Given the description of an element on the screen output the (x, y) to click on. 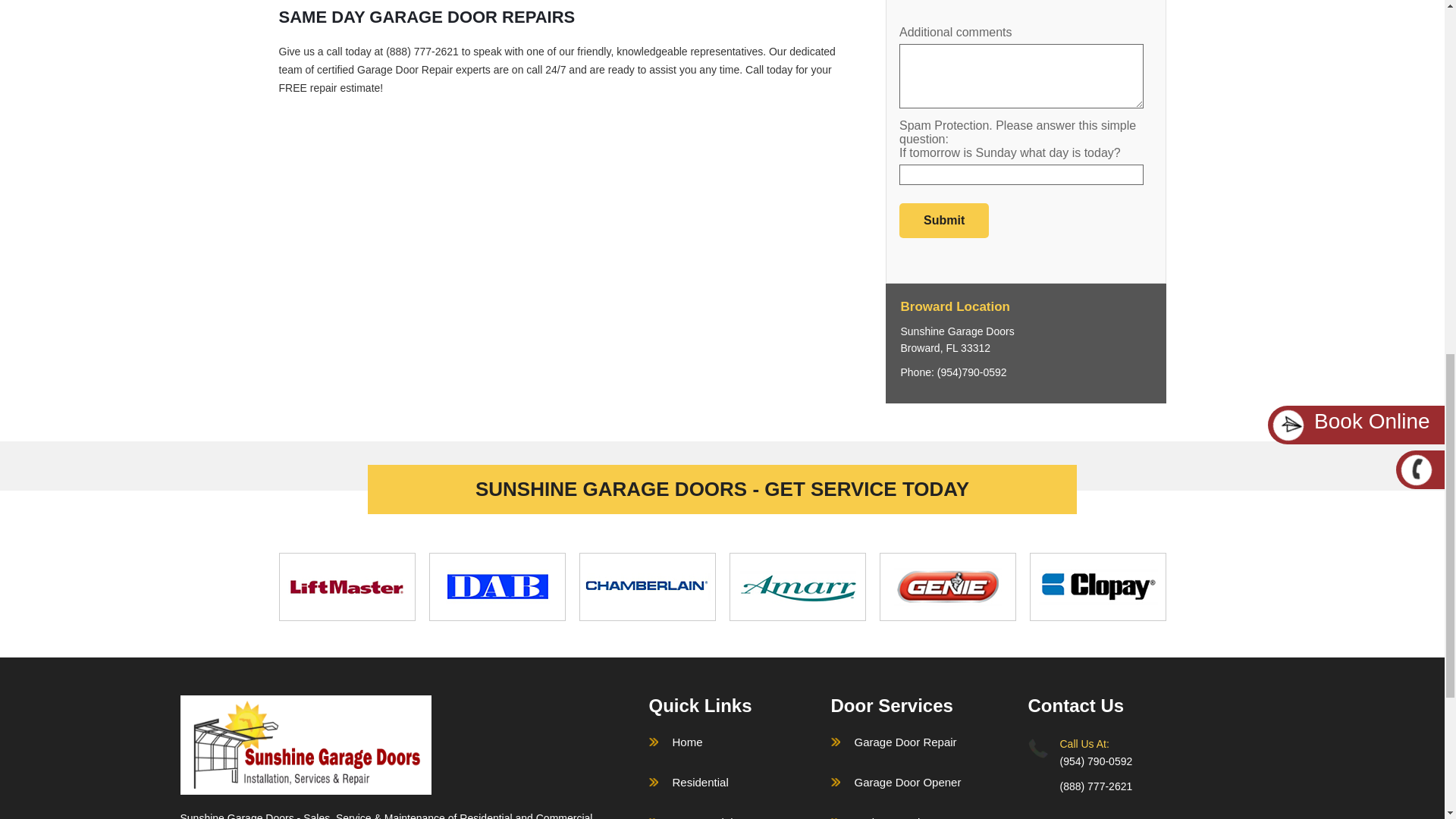
embedded form (1024, 122)
